Given the description of an element on the screen output the (x, y) to click on. 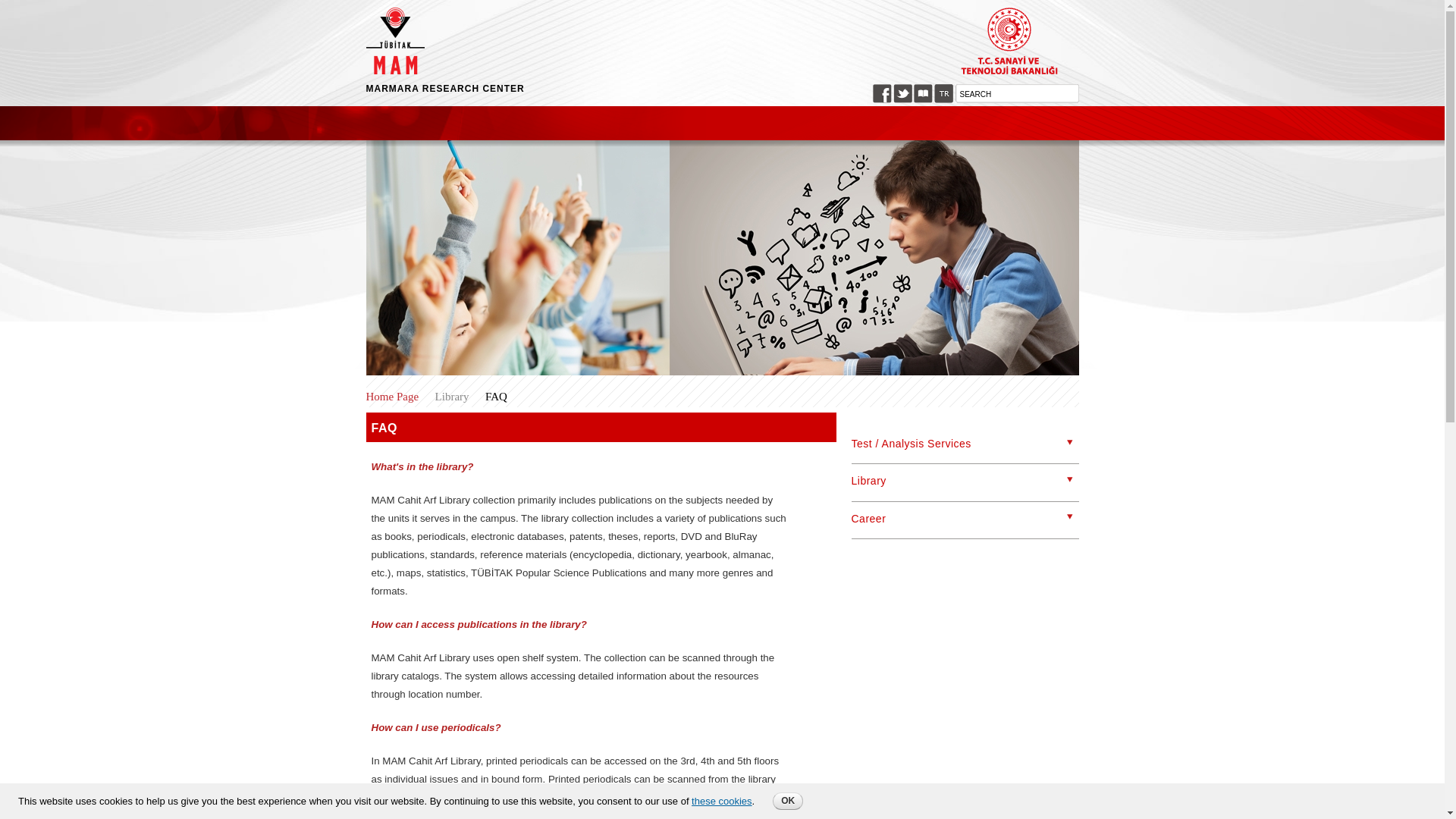
SSS (943, 93)
Skip to main content (693, 1)
Home (444, 88)
MARMARA RESEARCH CENTER (444, 88)
these cookies (721, 800)
OK (788, 800)
SEARCH (1016, 93)
MARMARA RESEARCH CENTER (394, 66)
OK (788, 800)
